Given the description of an element on the screen output the (x, y) to click on. 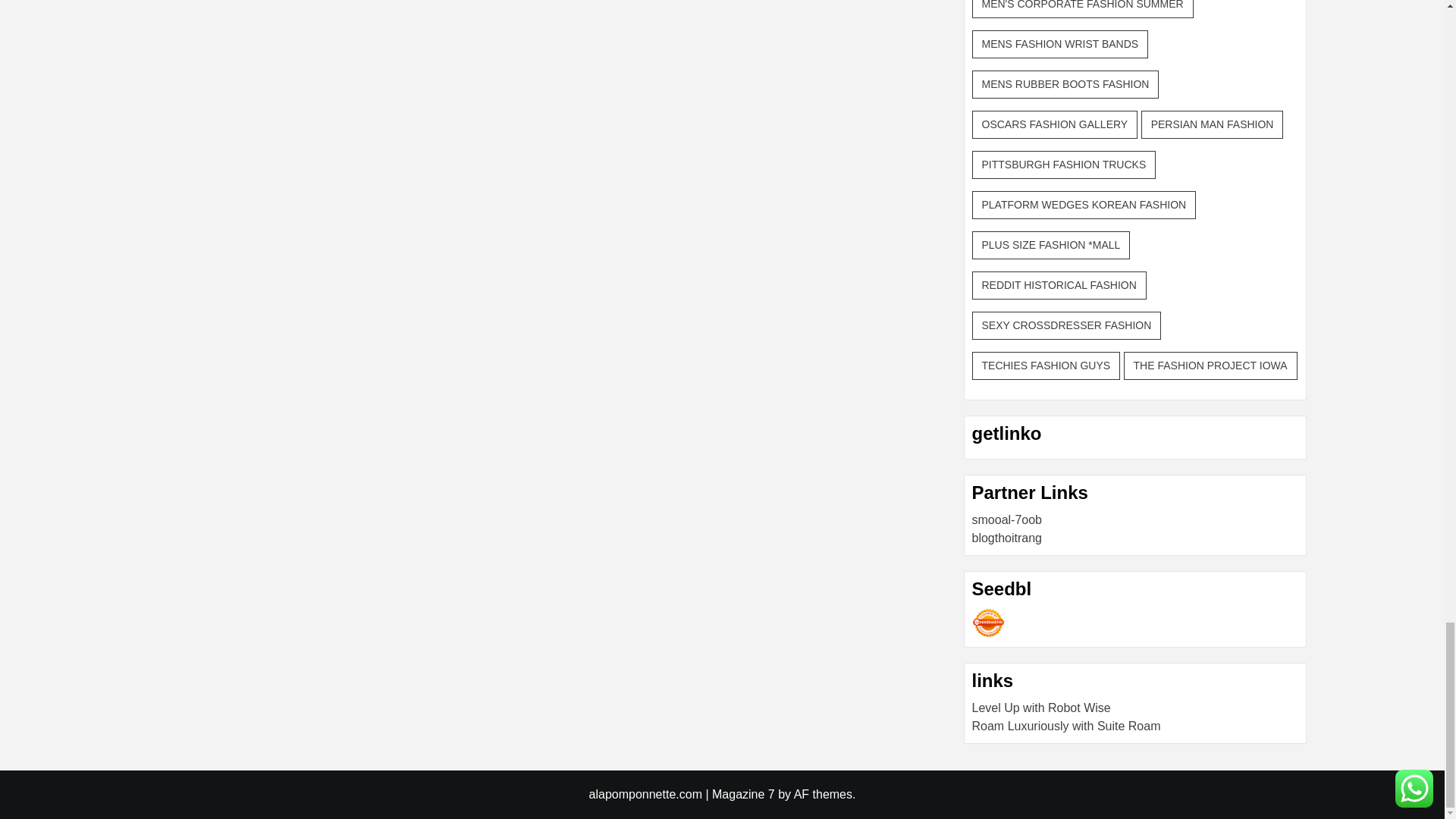
Seedbacklink (988, 622)
